Given the description of an element on the screen output the (x, y) to click on. 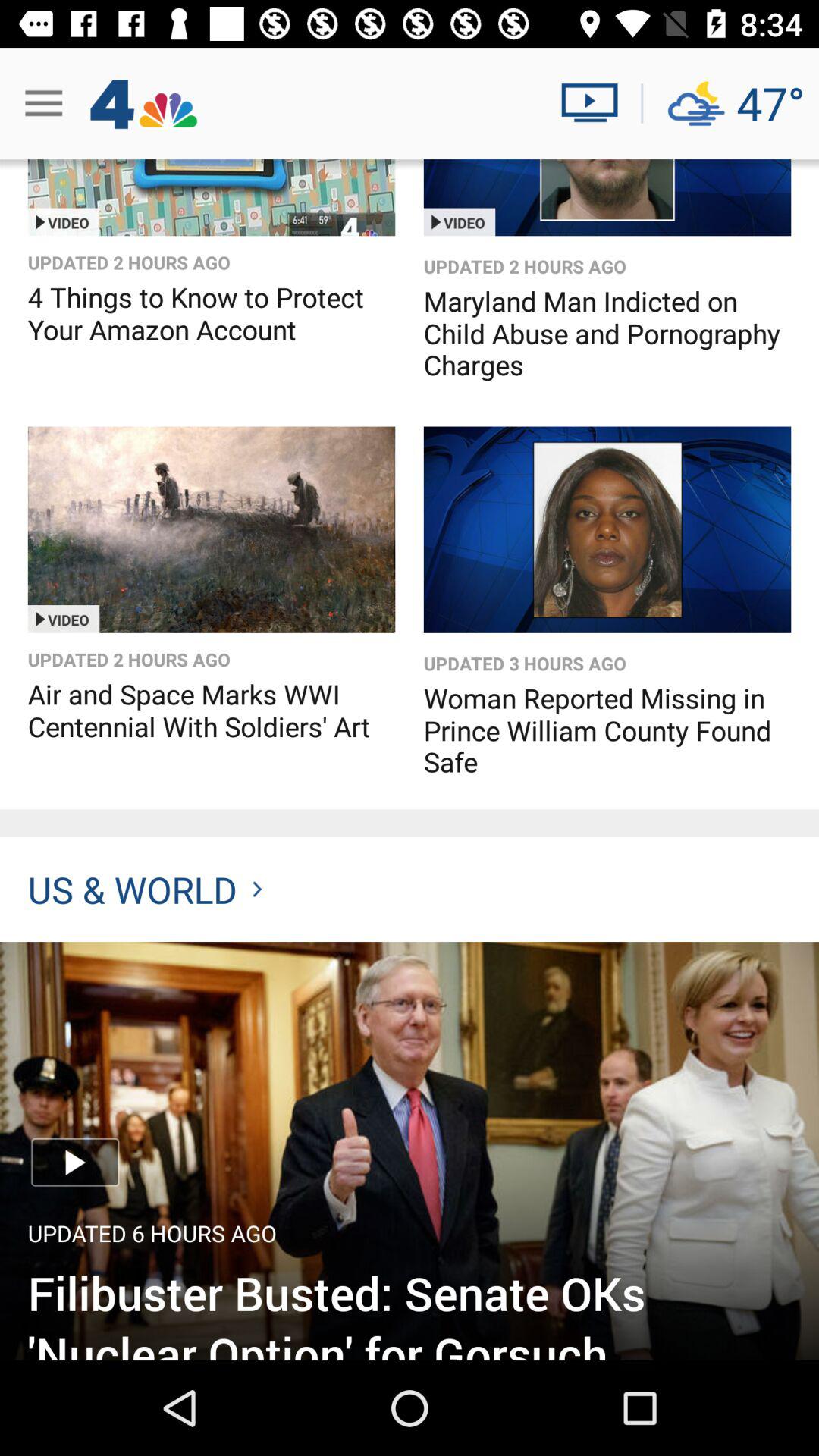
scroll to us & world (144, 889)
